Given the description of an element on the screen output the (x, y) to click on. 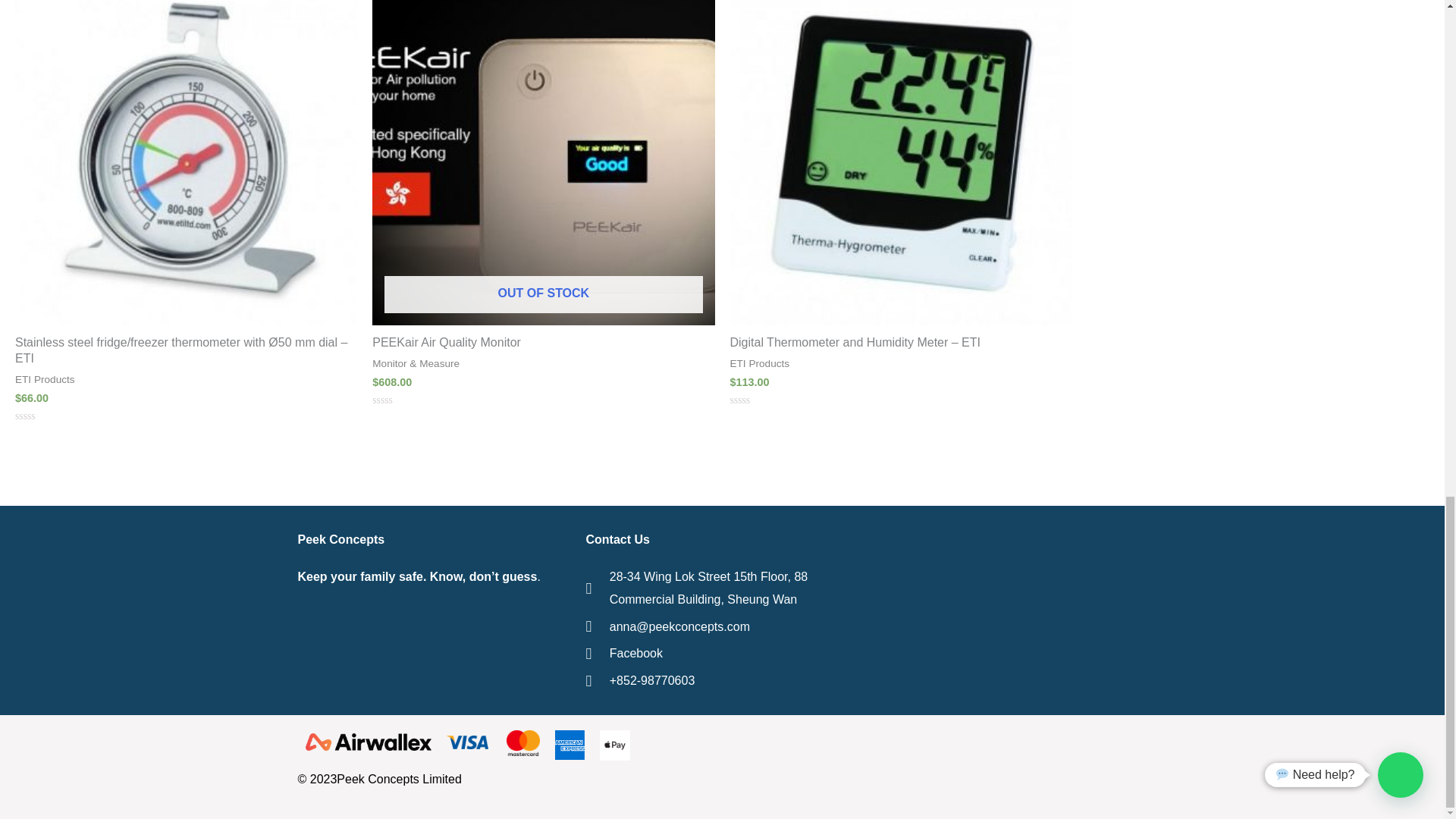
PEEKair Air Quality Monitor (543, 342)
OUT OF STOCK (543, 162)
Facebook (722, 653)
